Given the description of an element on the screen output the (x, y) to click on. 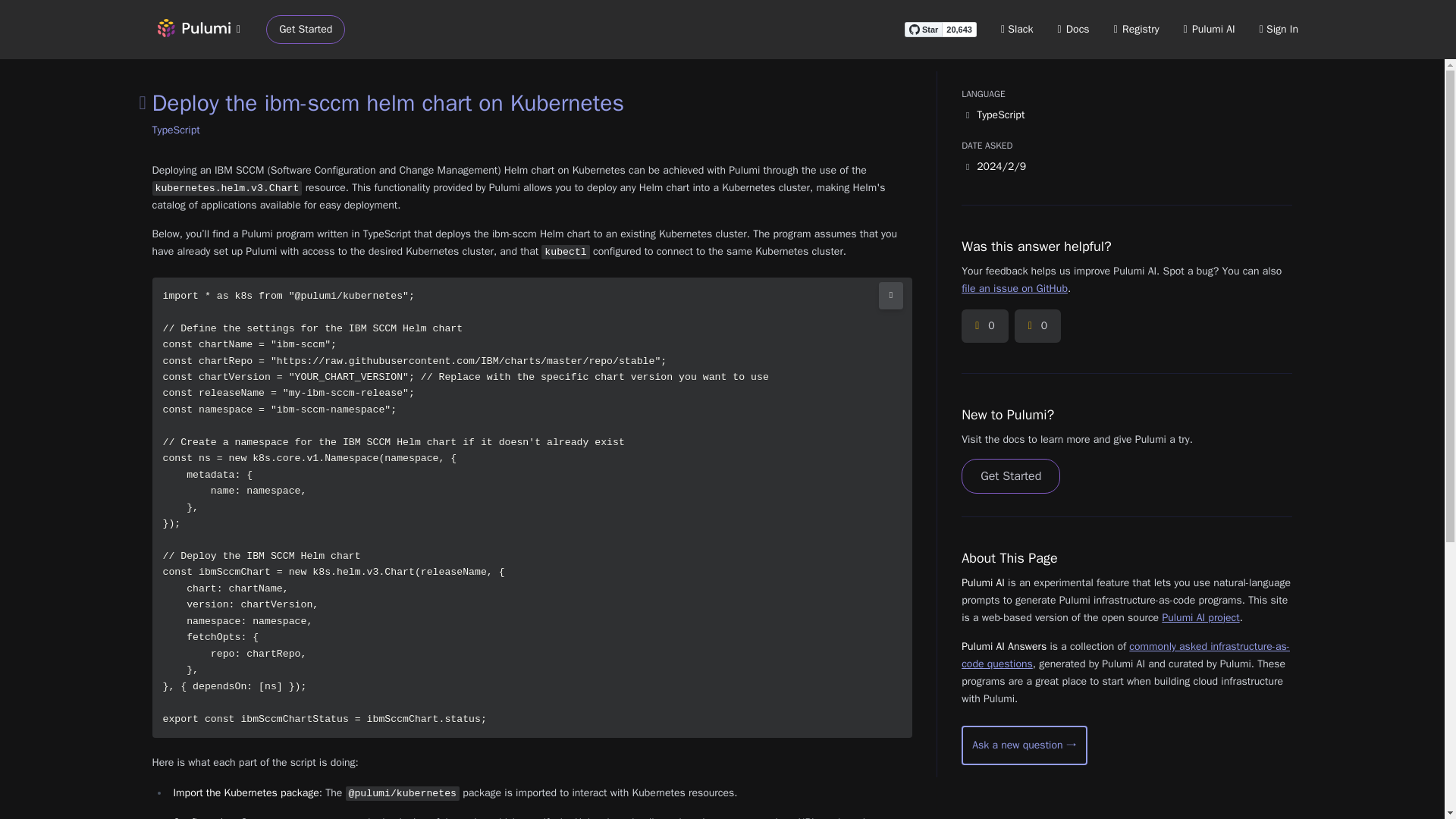
Slack (1017, 29)
Downvote this answer (1037, 326)
Get Started (305, 29)
Pulumi AI (1208, 29)
Get Started (1009, 475)
20,643 (959, 29)
Upvote this answer (984, 326)
Docs (1073, 29)
0 (1037, 326)
0 (984, 326)
Start a new conversation with Pulumi AI (1023, 744)
 Star (923, 29)
Sign In (1278, 29)
file an issue on GitHub (1013, 287)
Registry (1135, 29)
